Given the description of an element on the screen output the (x, y) to click on. 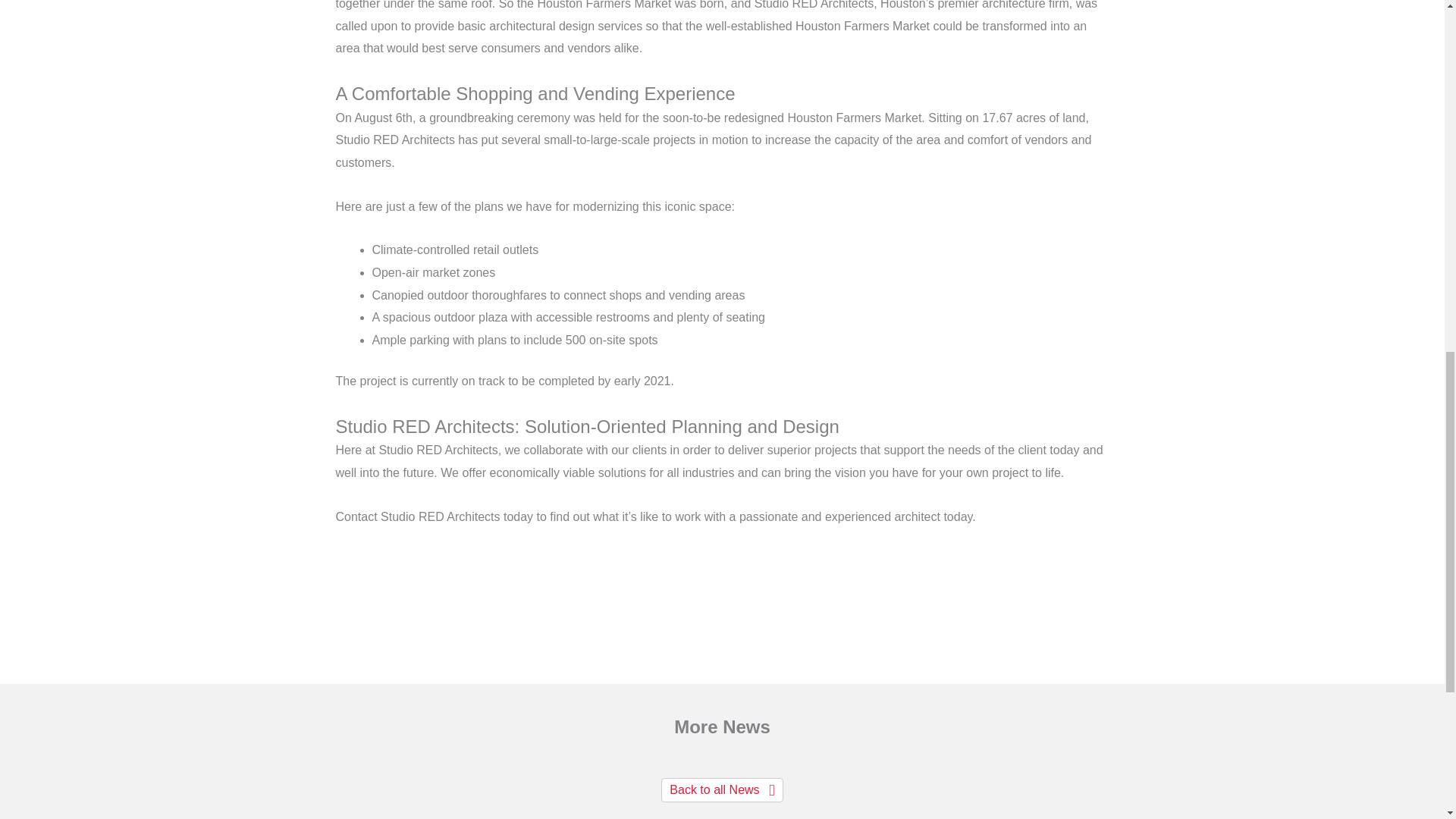
Back to all News (722, 790)
